Given the description of an element on the screen output the (x, y) to click on. 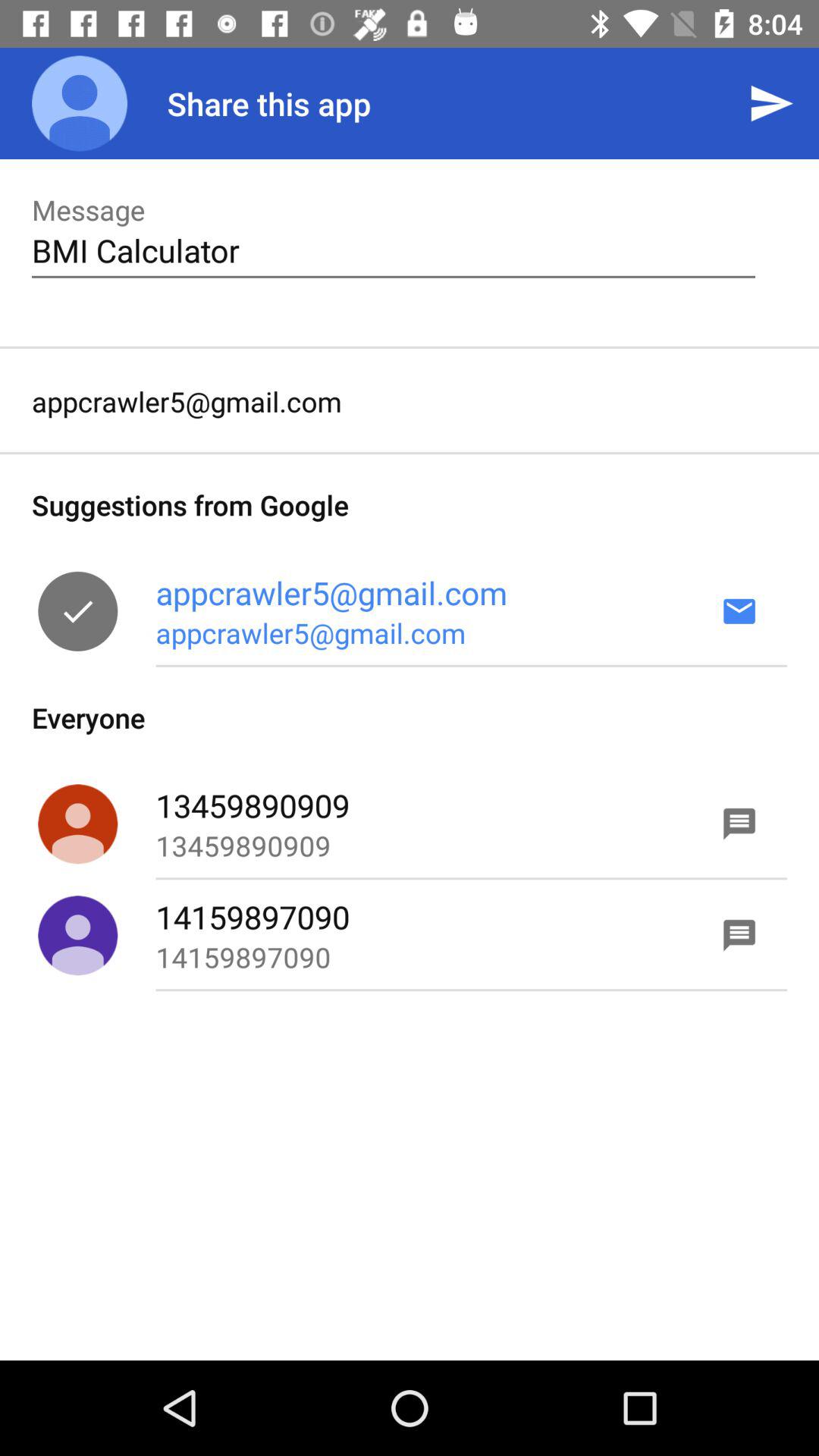
tap item next to share this app (771, 103)
